Given the description of an element on the screen output the (x, y) to click on. 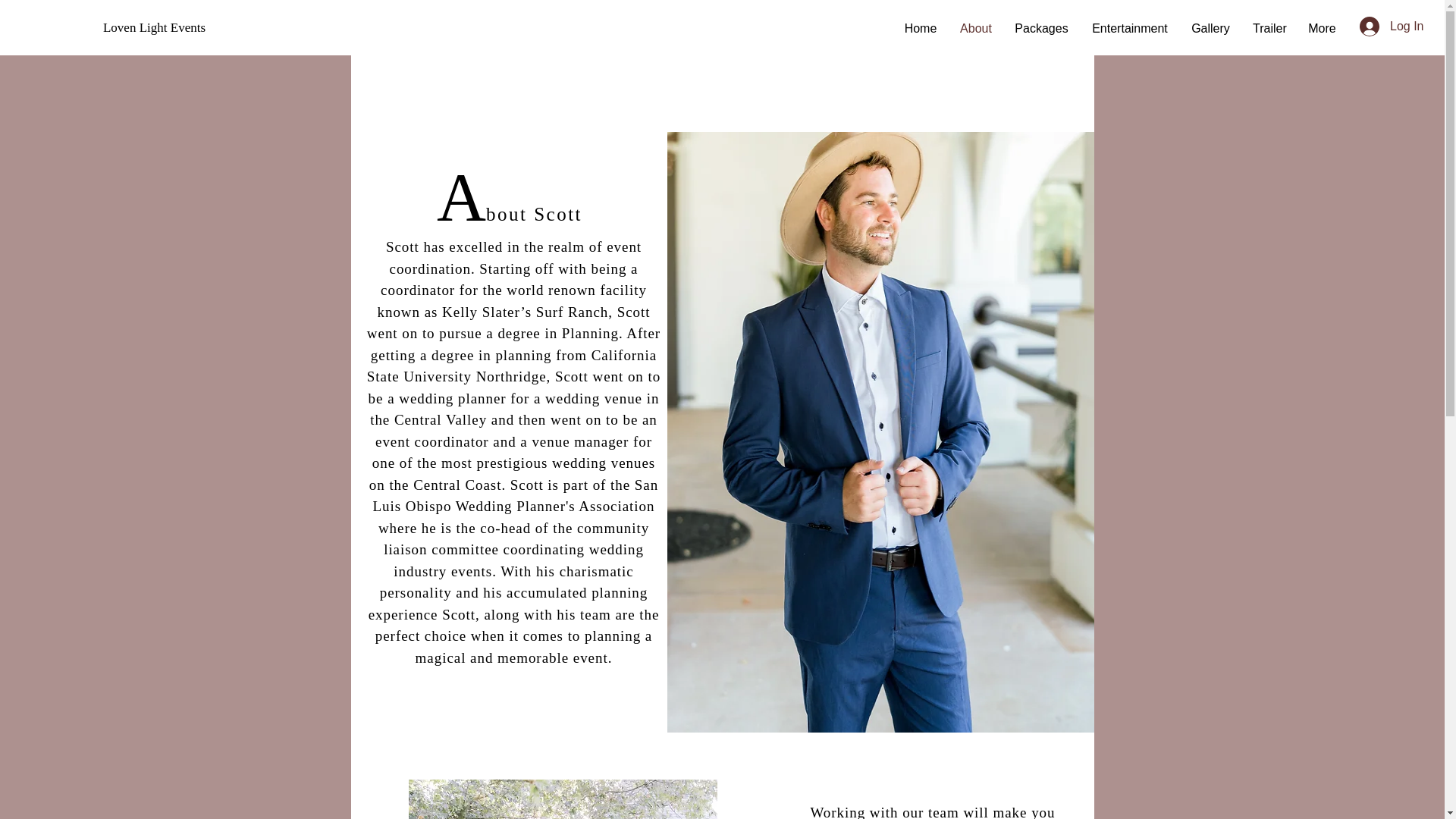
Log In (1385, 26)
Gallery (1210, 28)
About (976, 28)
Packages (1041, 28)
Entertainment (1129, 28)
Home (920, 28)
Trailer (1269, 28)
Loven Light Events (154, 28)
